Given the description of an element on the screen output the (x, y) to click on. 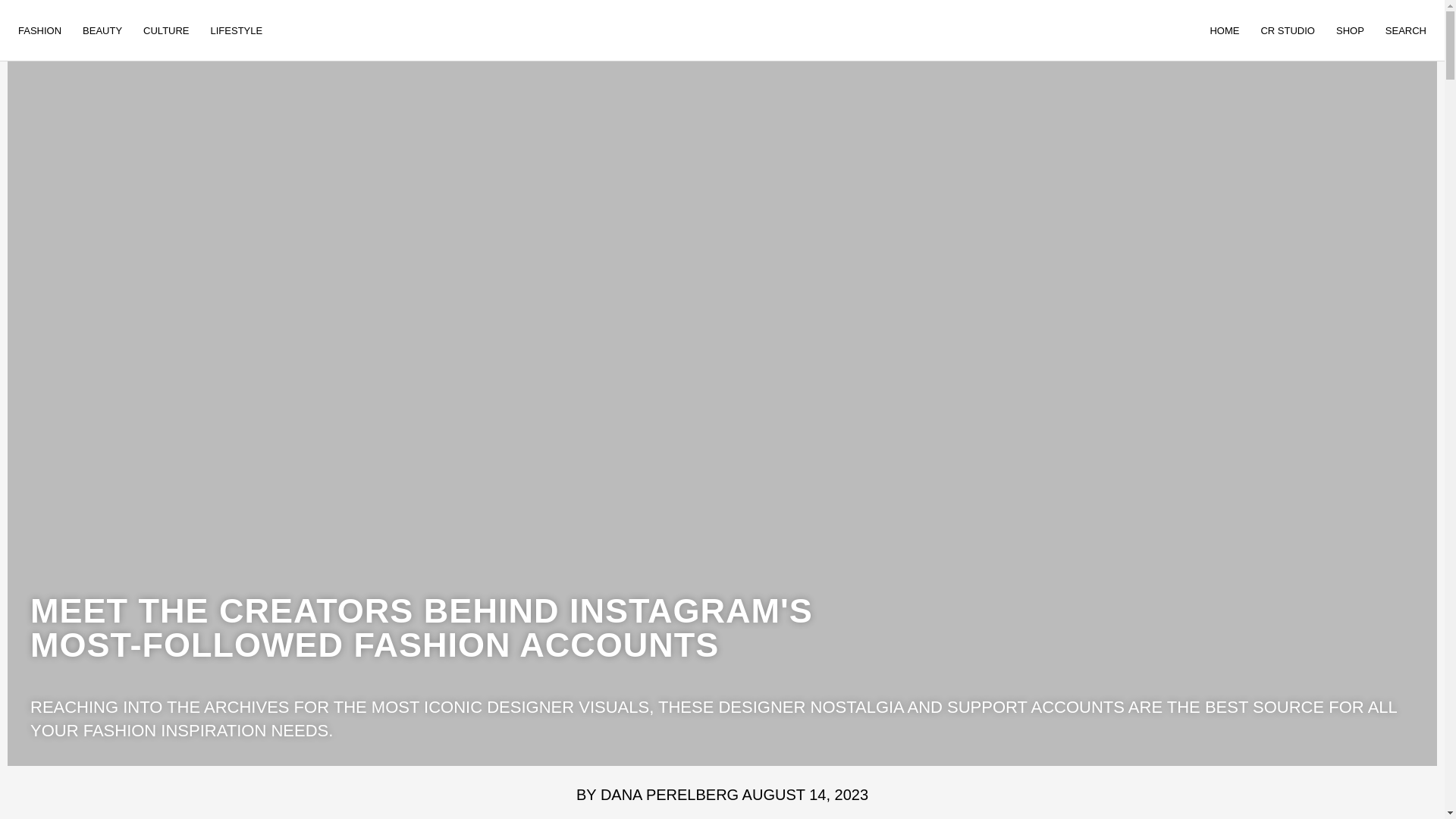
HOME (1223, 30)
FASHION (39, 30)
SHOP (1349, 30)
CULTURE (165, 30)
SEARCH (1405, 30)
BEAUTY (101, 30)
LIFESTYLE (236, 30)
CR STUDIO (1286, 30)
